Given the description of an element on the screen output the (x, y) to click on. 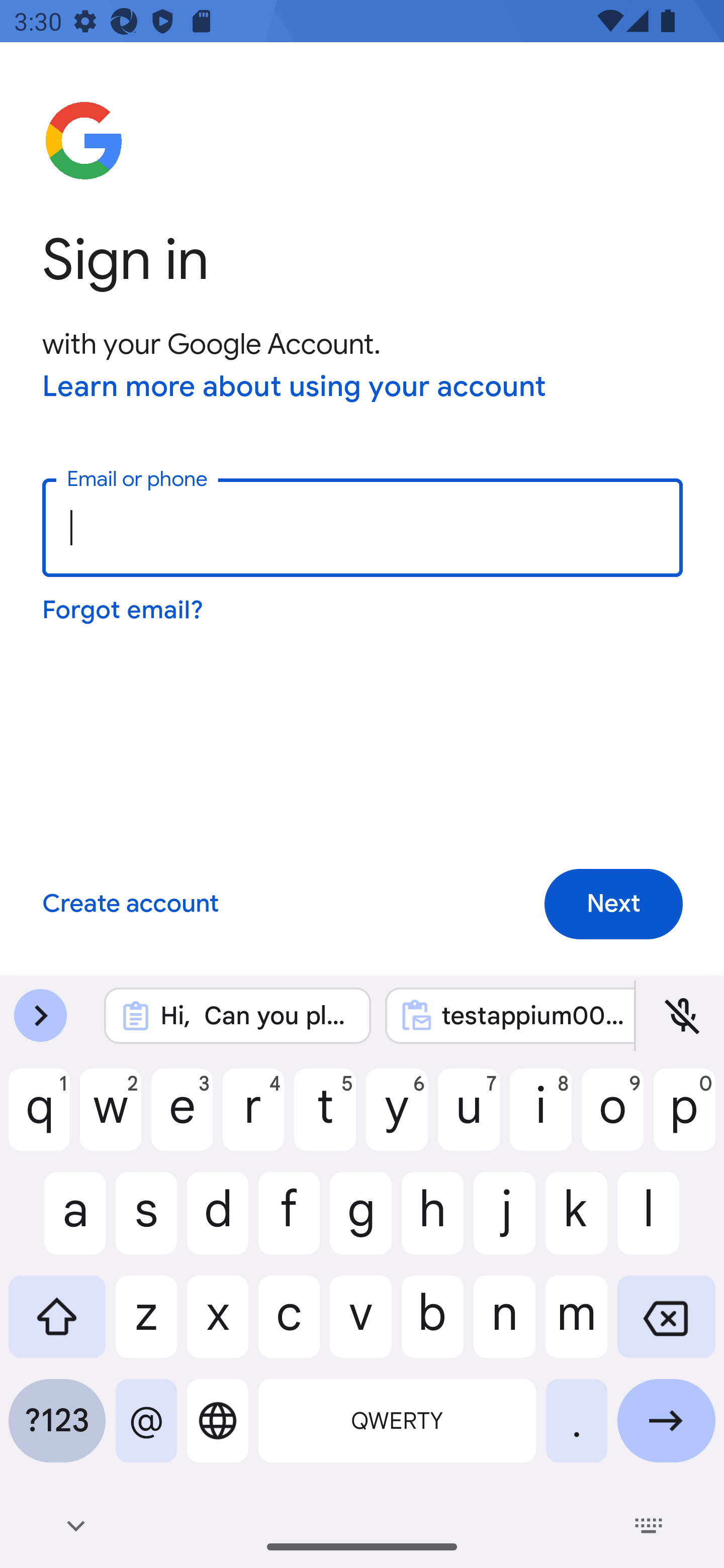
Learn more about using your account (294, 388)
Forgot email? (123, 609)
Create account (129, 904)
Next (613, 904)
